Given the description of an element on the screen output the (x, y) to click on. 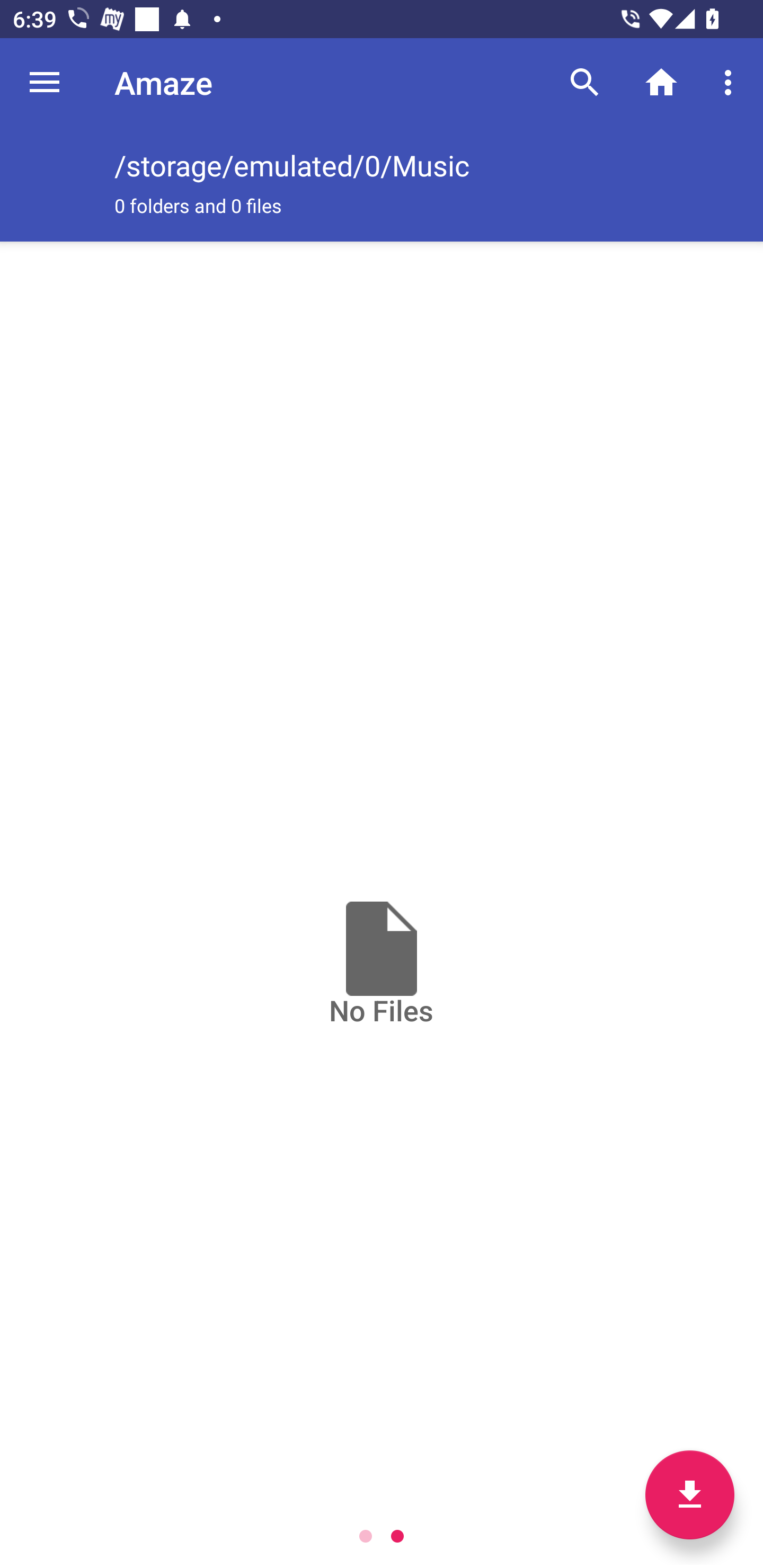
Navigate up (44, 82)
Search (585, 81)
Home (661, 81)
More options (731, 81)
